Given the description of an element on the screen output the (x, y) to click on. 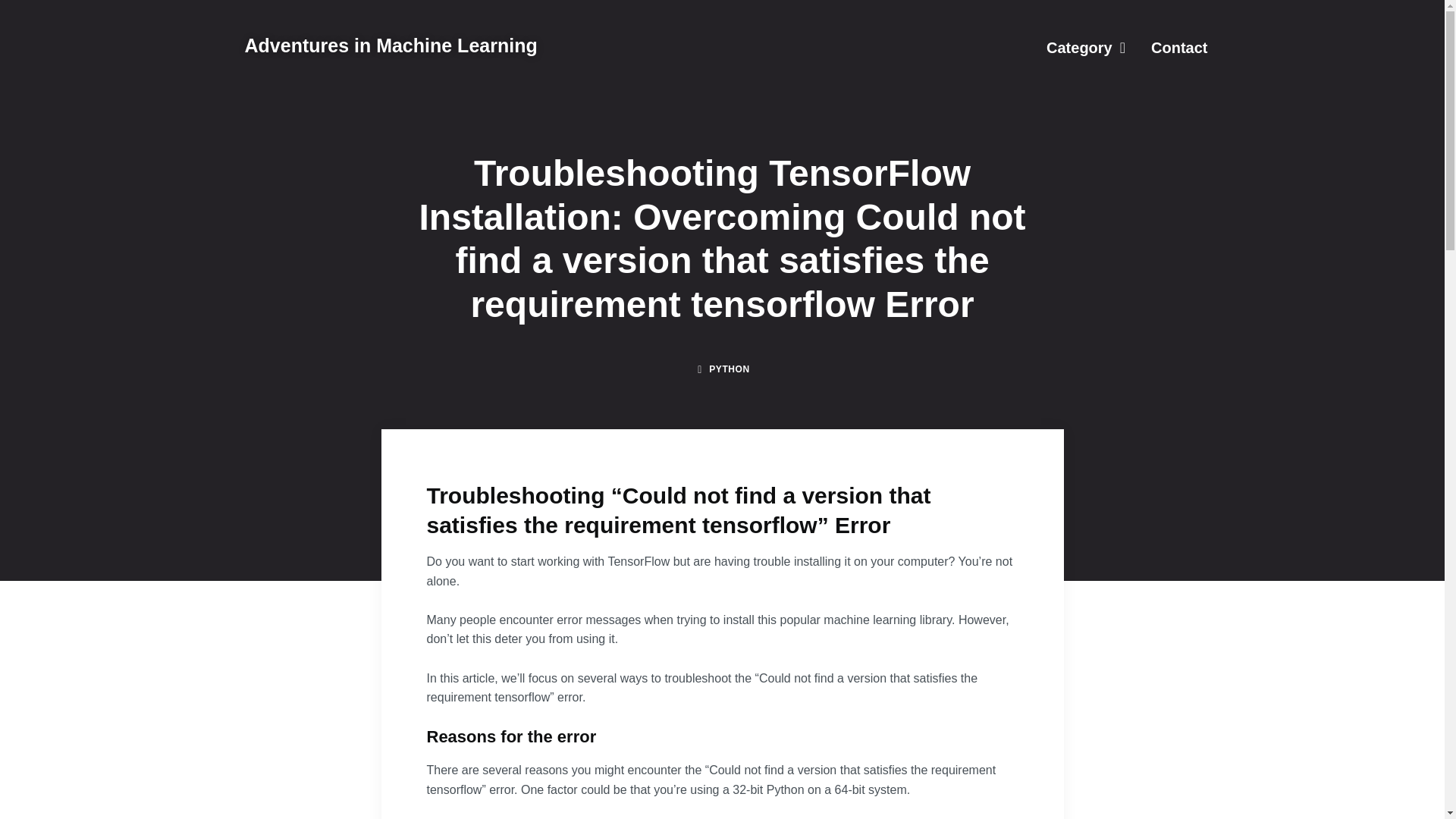
Contact (1179, 47)
Adventures in Machine Learning (390, 45)
PYTHON (729, 368)
Category (1085, 47)
